Given the description of an element on the screen output the (x, y) to click on. 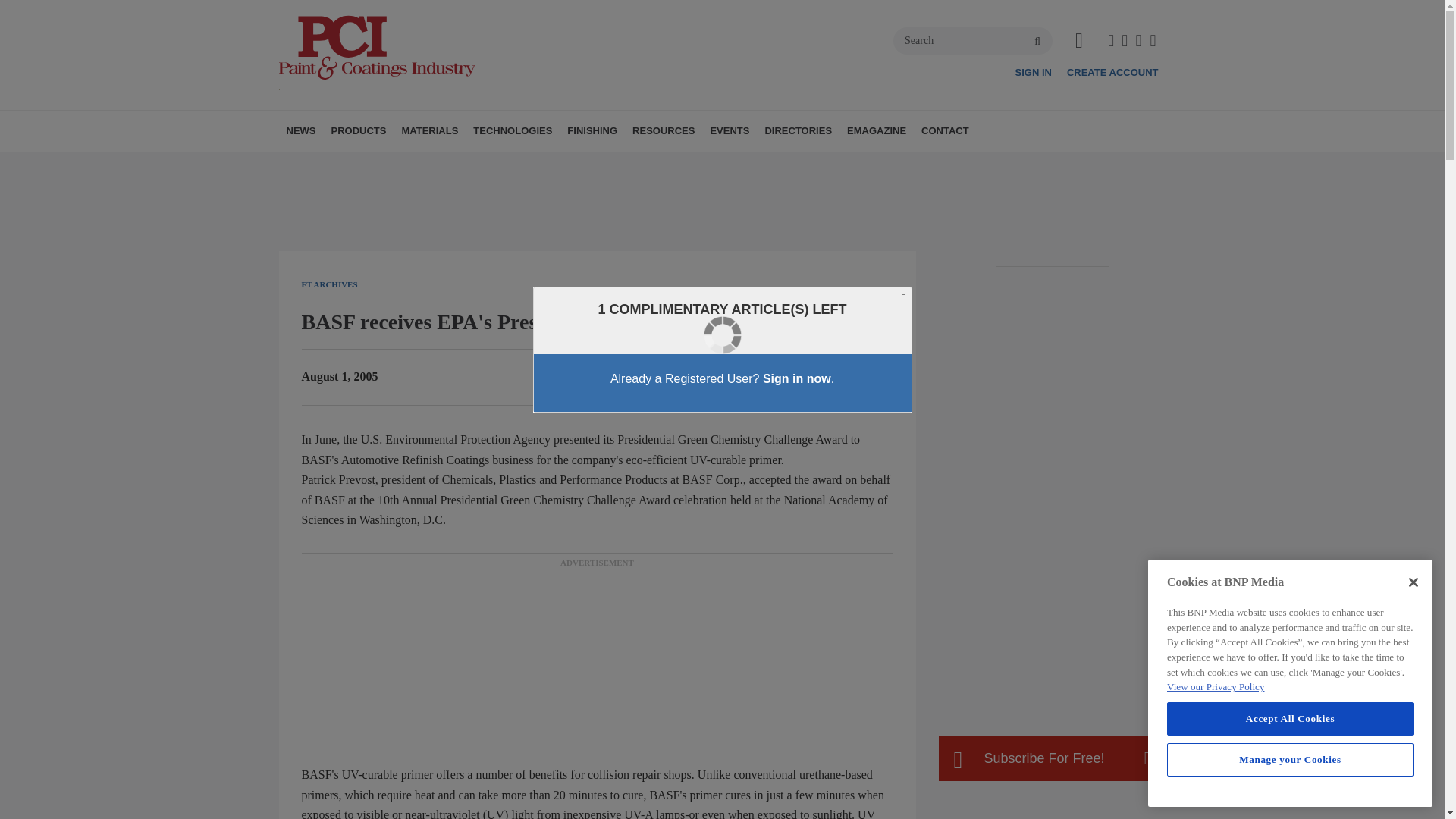
Search (972, 40)
Search (972, 40)
